Given the description of an element on the screen output the (x, y) to click on. 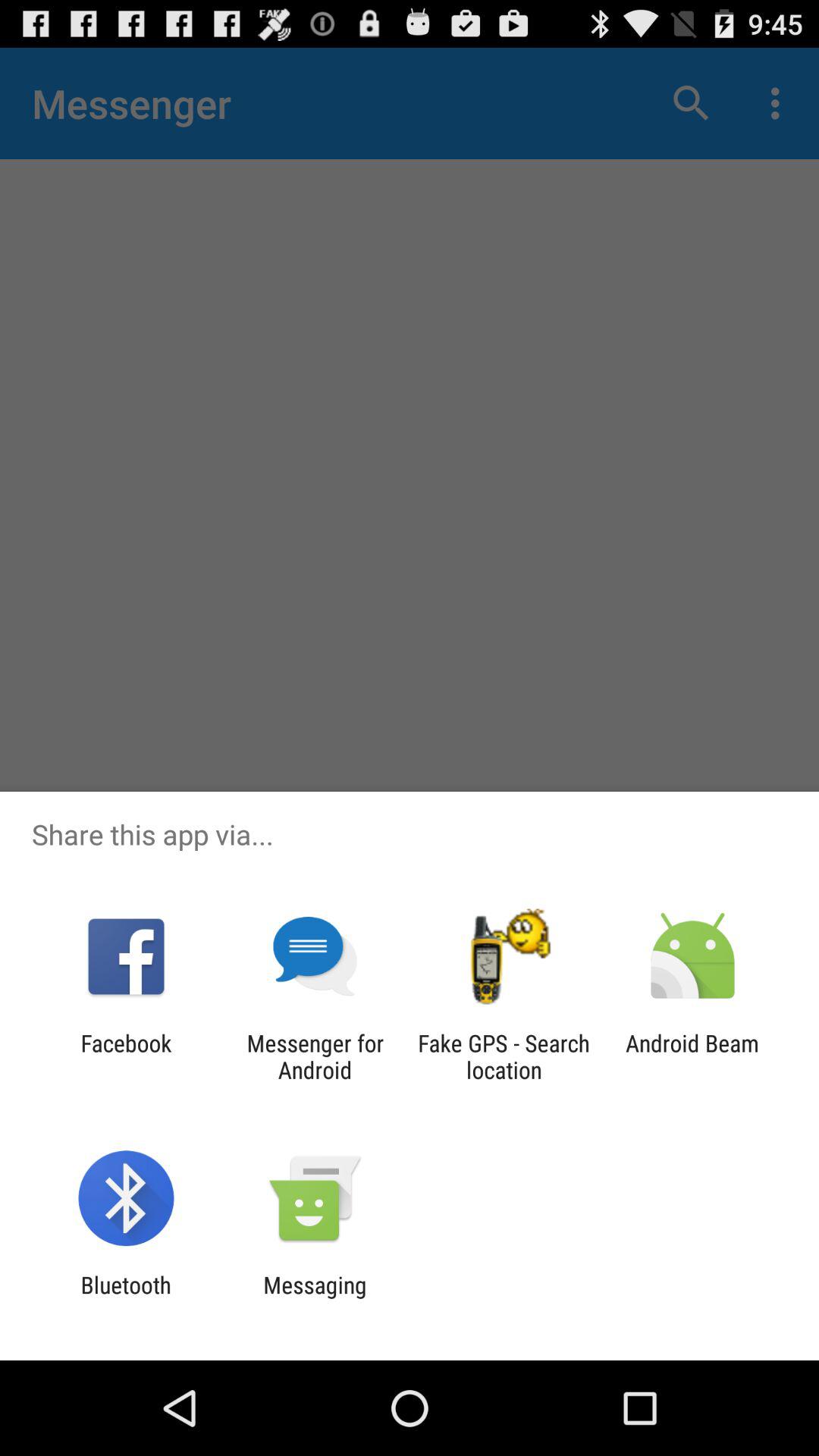
choose the android beam icon (692, 1056)
